Given the description of an element on the screen output the (x, y) to click on. 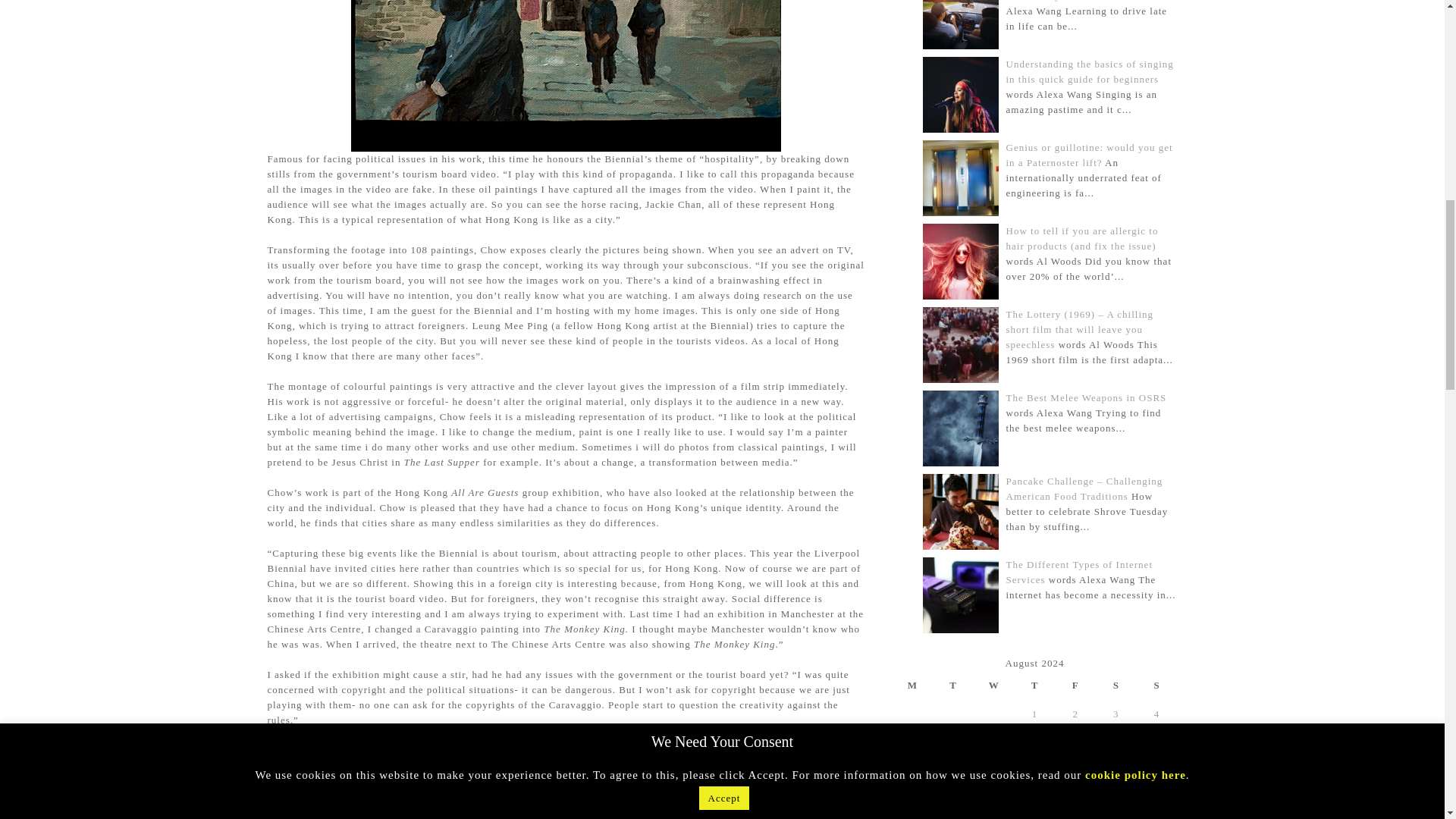
Monday (912, 684)
Wednesday (994, 684)
Saturday (1116, 684)
Thursday (1034, 684)
Tuesday (953, 684)
Friday (1075, 684)
Sunday (1157, 684)
